Given the description of an element on the screen output the (x, y) to click on. 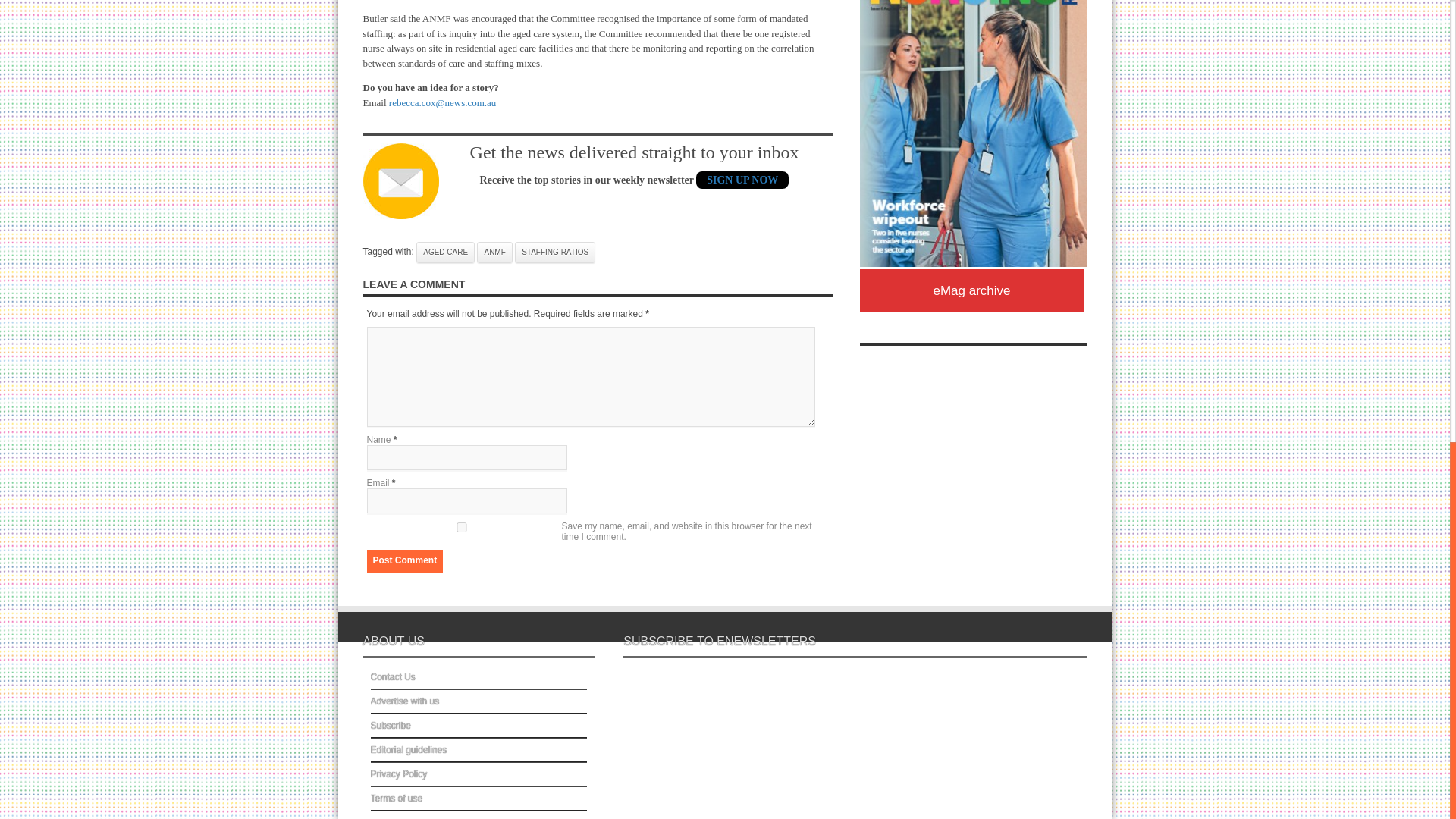
yes (461, 526)
ANMF (494, 251)
SIGN UP NOW (742, 180)
Post Comment (405, 559)
AGED CARE (445, 251)
